Given the description of an element on the screen output the (x, y) to click on. 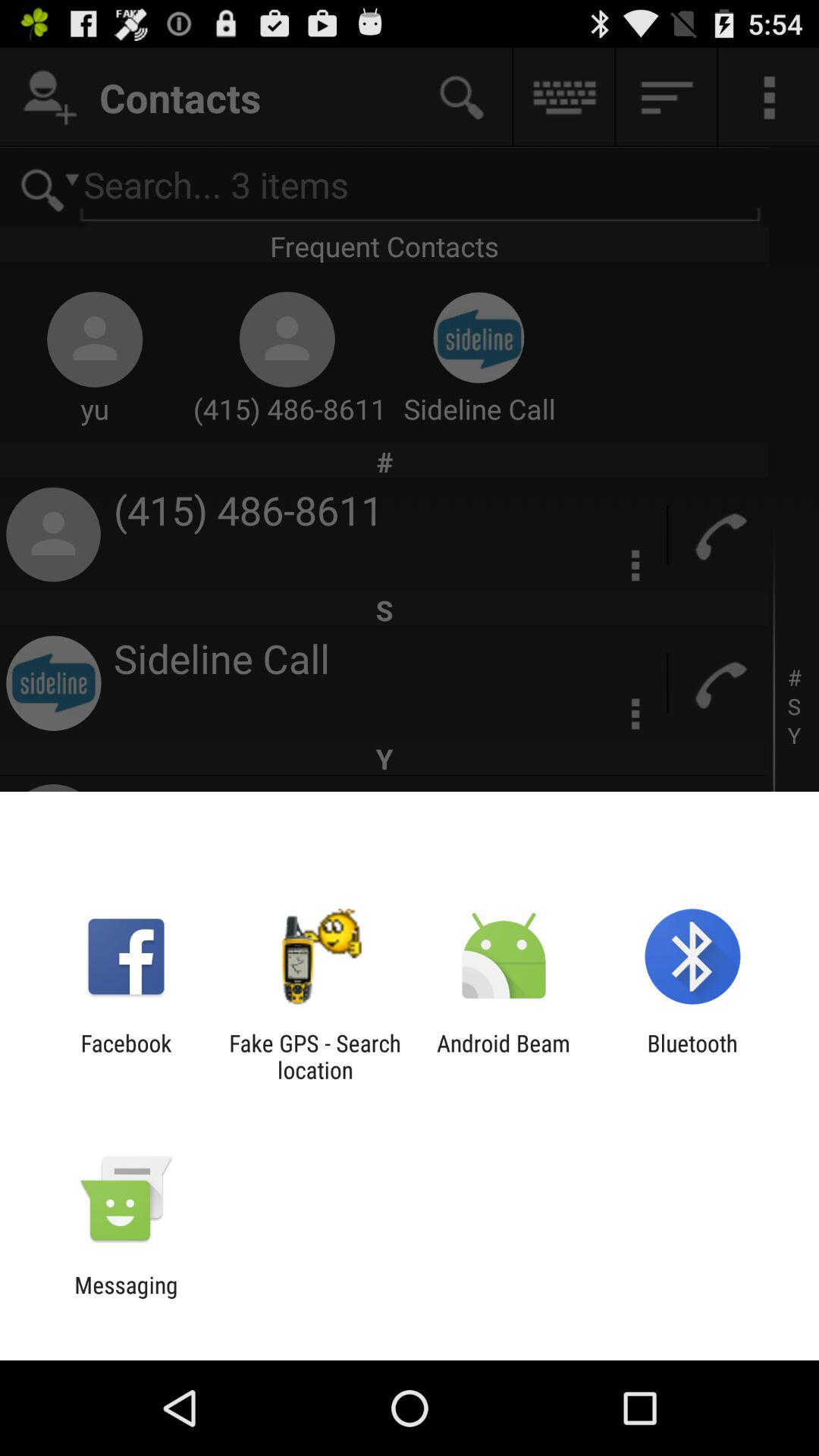
choose the icon to the right of fake gps search item (503, 1056)
